Given the description of an element on the screen output the (x, y) to click on. 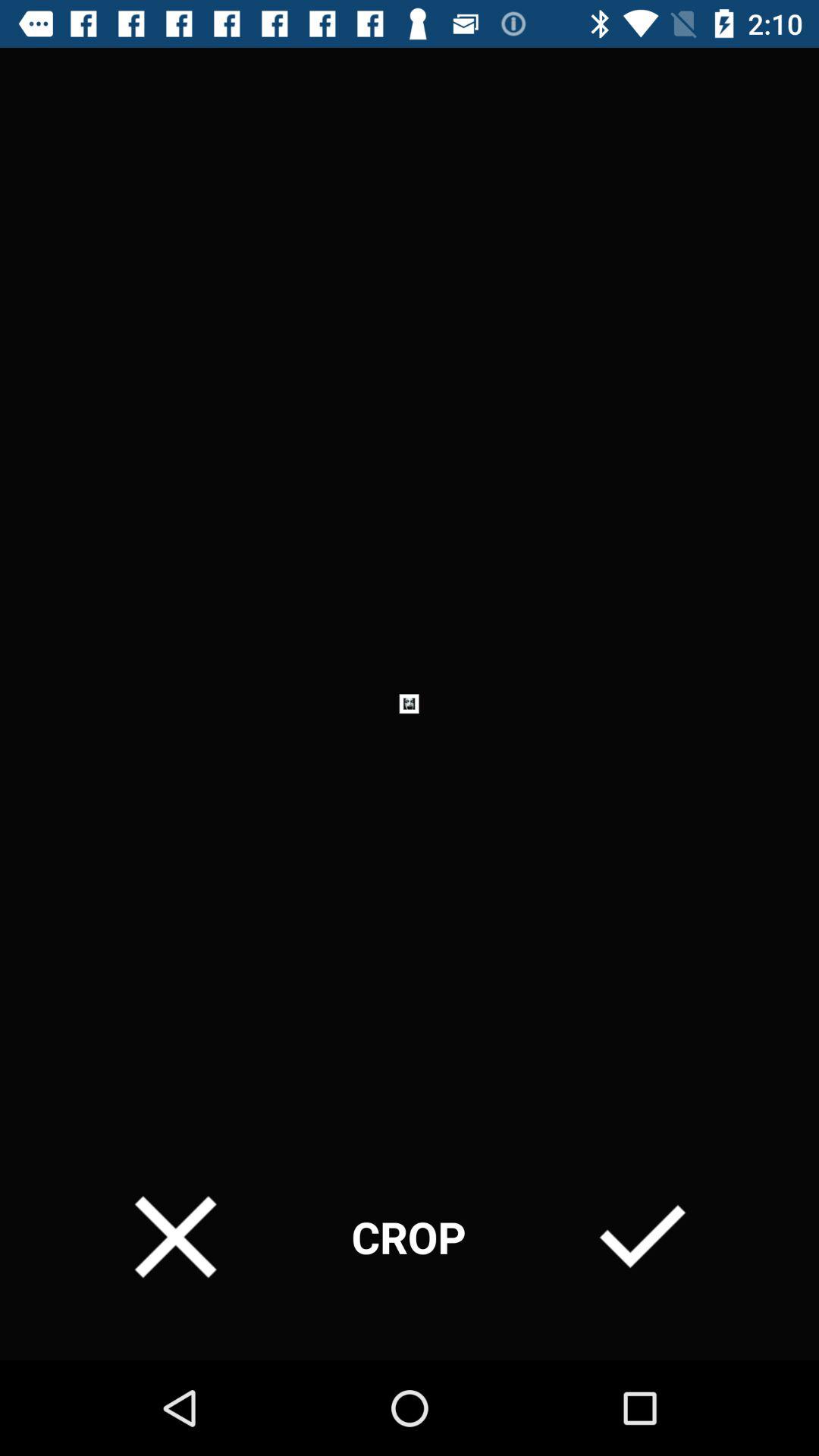
turn off item at the bottom left corner (175, 1236)
